Given the description of an element on the screen output the (x, y) to click on. 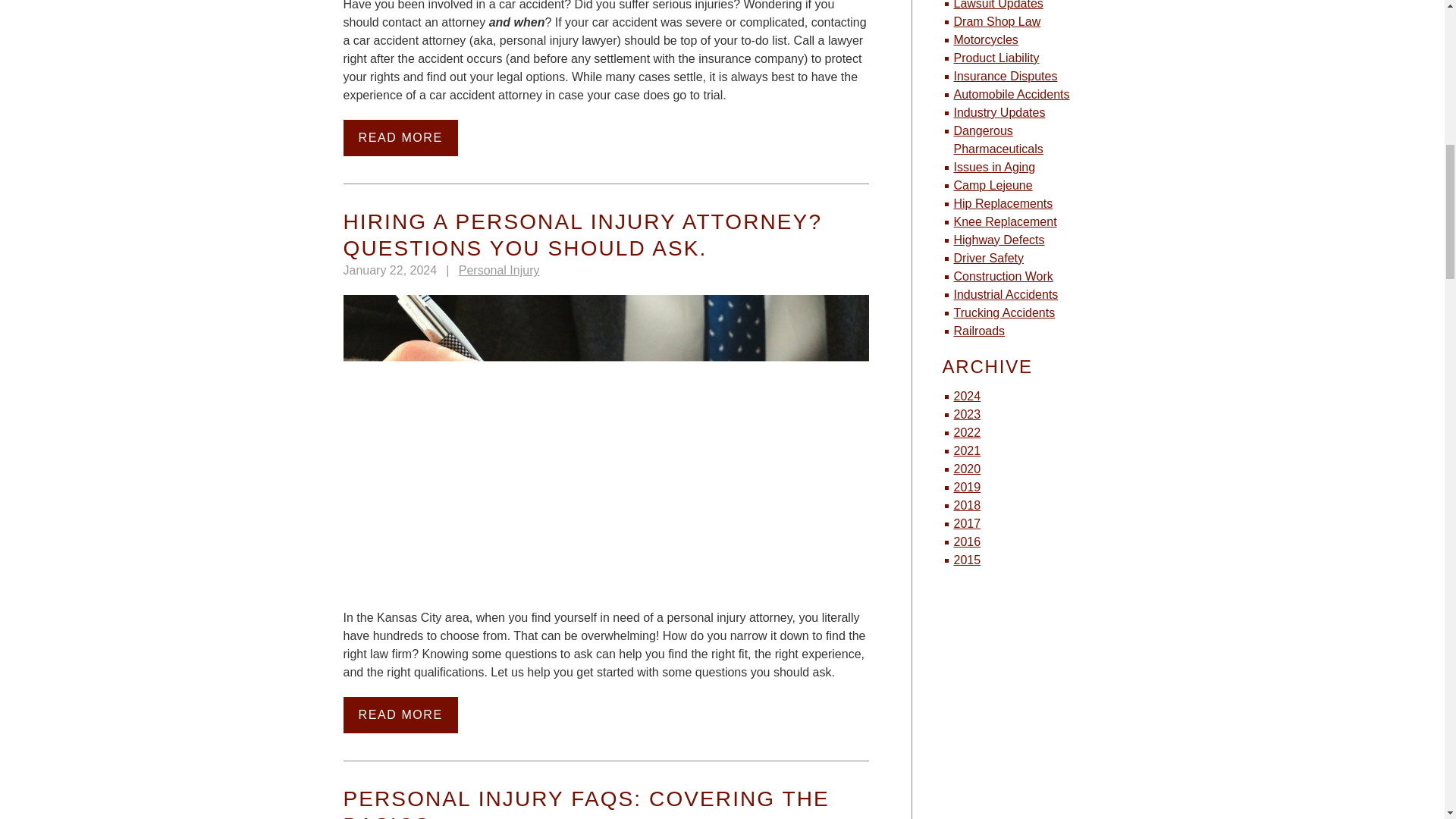
Hiring a Personal Injury Attorney? Questions You Should Ask. (582, 234)
Read More (399, 714)
Read More (399, 137)
Personal Injury FAQs: Covering the Basics (585, 803)
